Given the description of an element on the screen output the (x, y) to click on. 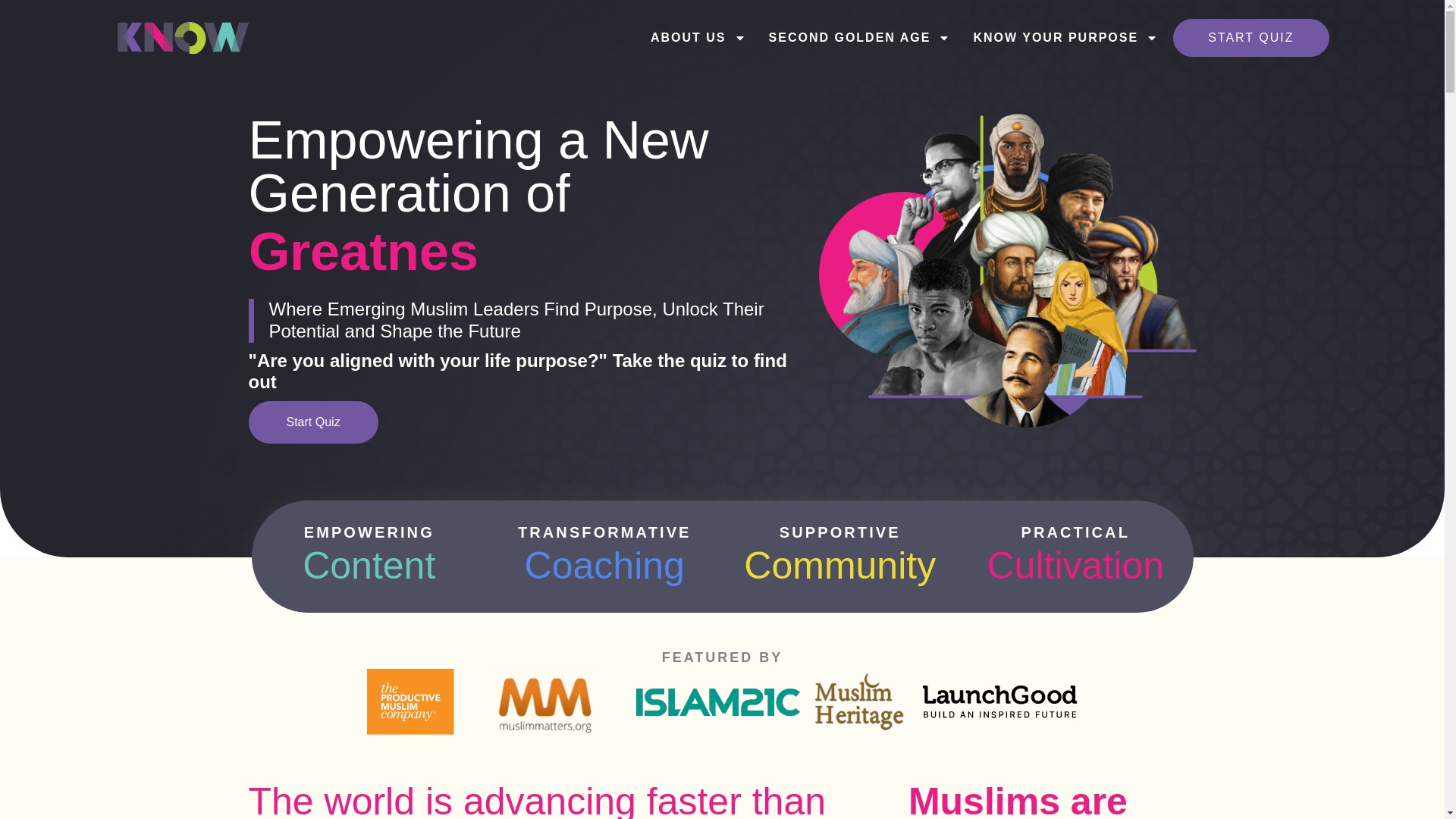
ABOUT US (697, 37)
SECOND GOLDEN AGE (859, 37)
KNOW YOUR PURPOSE (1064, 37)
START QUIZ (1250, 37)
